Given the description of an element on the screen output the (x, y) to click on. 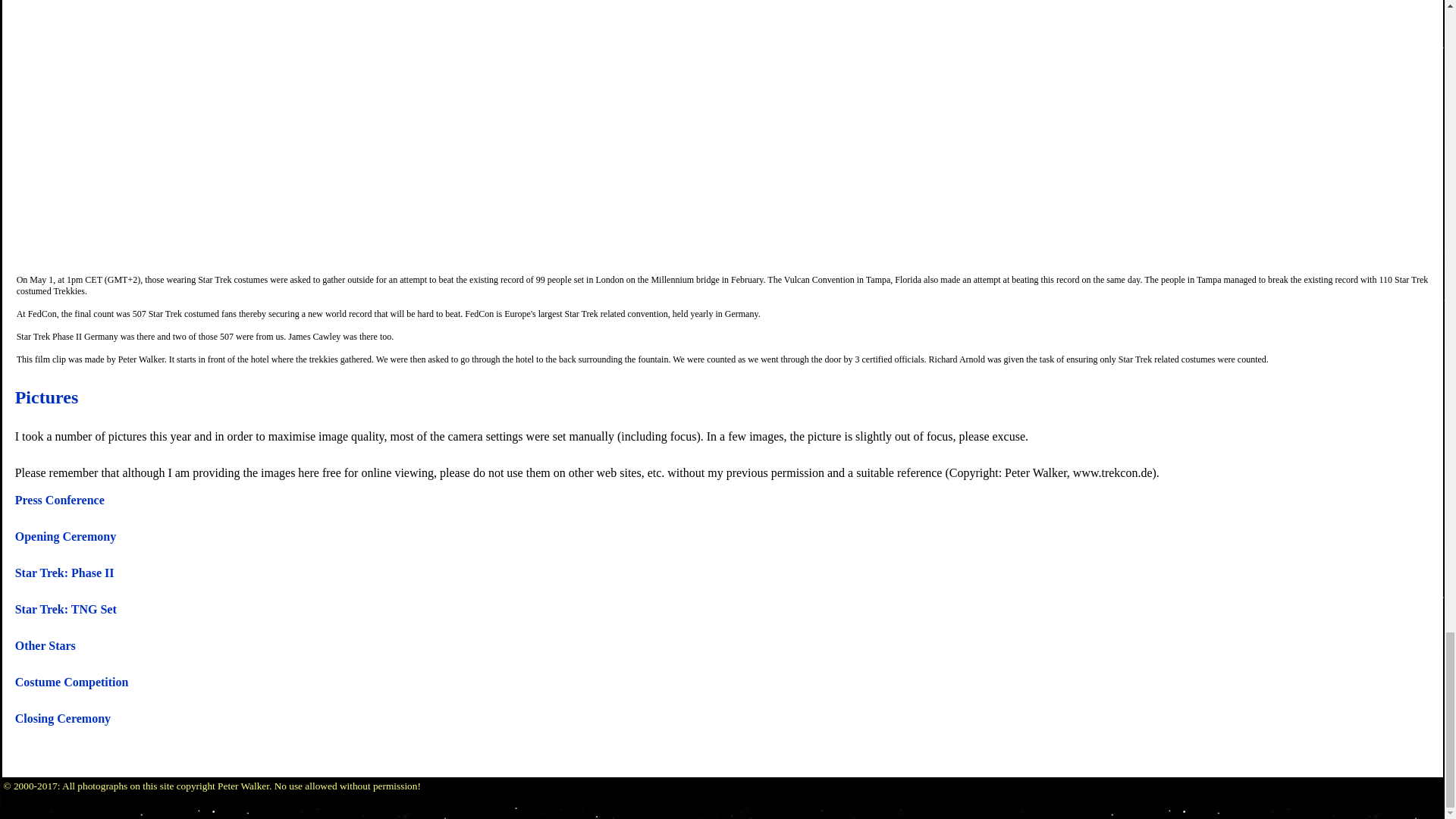
Star Trek: TNG Set (65, 608)
Closing Ceremony (62, 717)
Opening Ceremony (65, 535)
Press Conference (59, 499)
Star Trek: Phase II (64, 572)
Costume Competition (71, 681)
Other Stars (44, 645)
